Given the description of an element on the screen output the (x, y) to click on. 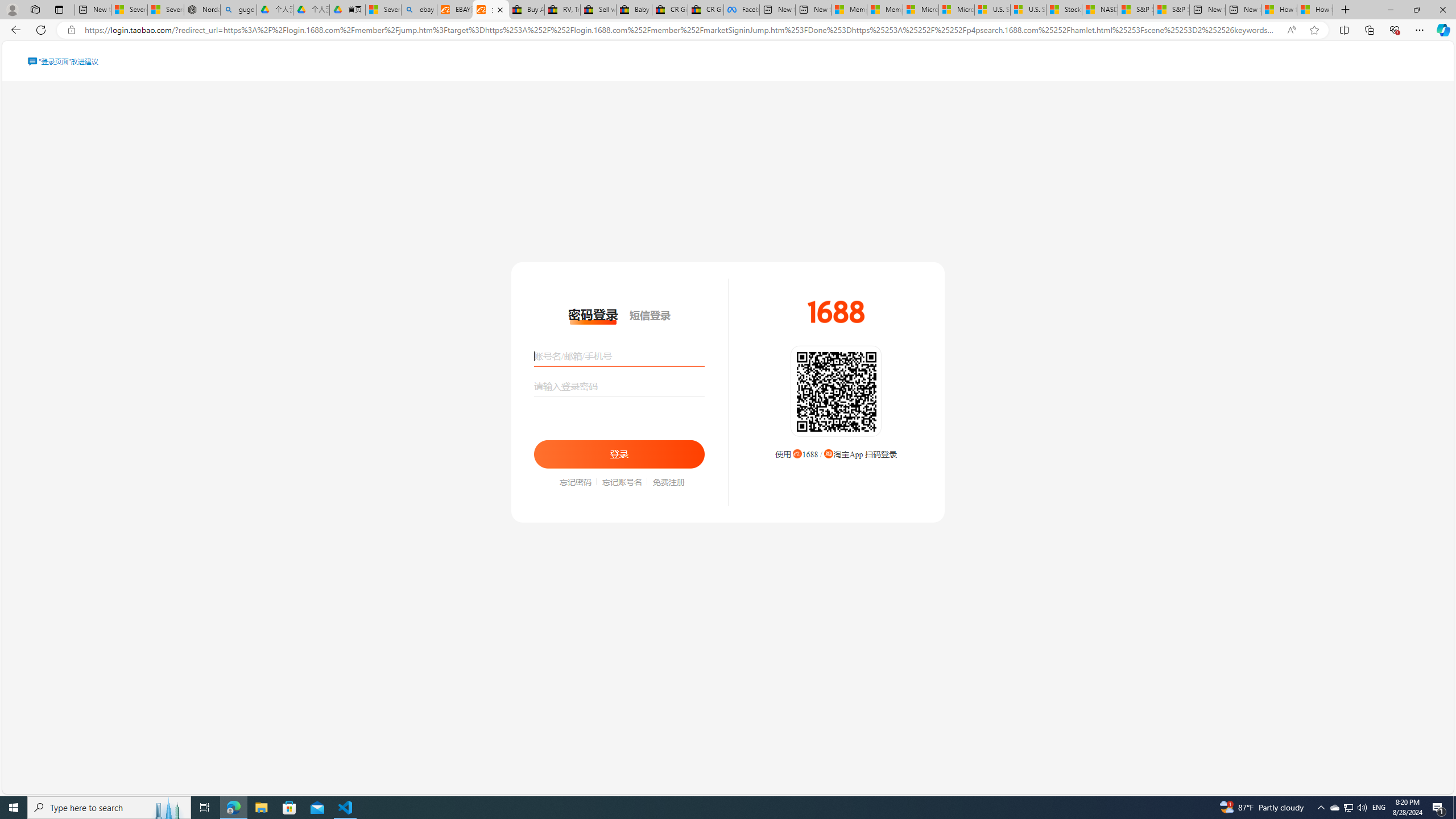
How to Use a Monitor With Your Closed Laptop (1315, 9)
Collections (1369, 29)
Close (1442, 9)
guge yunpan - Search (238, 9)
ebay - Search (419, 9)
Baby Keepsakes & Announcements for sale | eBay (633, 9)
Buy Auto Parts & Accessories | eBay (525, 9)
Nordace - Summer Adventures 2024 (202, 9)
New tab (1243, 9)
View site information (70, 29)
